Given the description of an element on the screen output the (x, y) to click on. 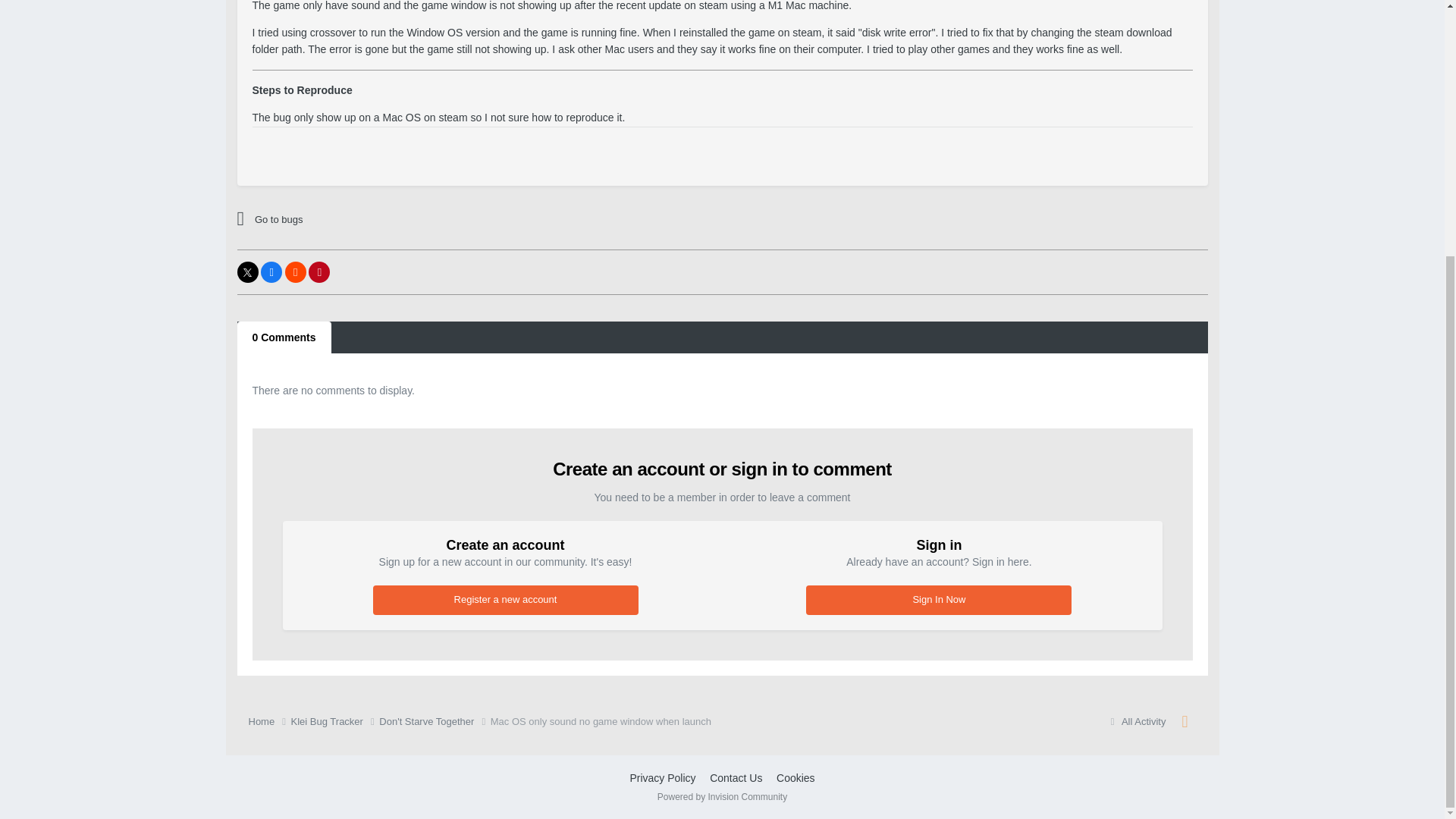
Share on X (246, 271)
Go to Don't Starve Together (368, 219)
Home (269, 721)
Share on Reddit (295, 271)
Available RSS feeds (1184, 721)
Share on Pinterest (319, 271)
Share on Facebook (271, 271)
0 Comments (282, 336)
